Given the description of an element on the screen output the (x, y) to click on. 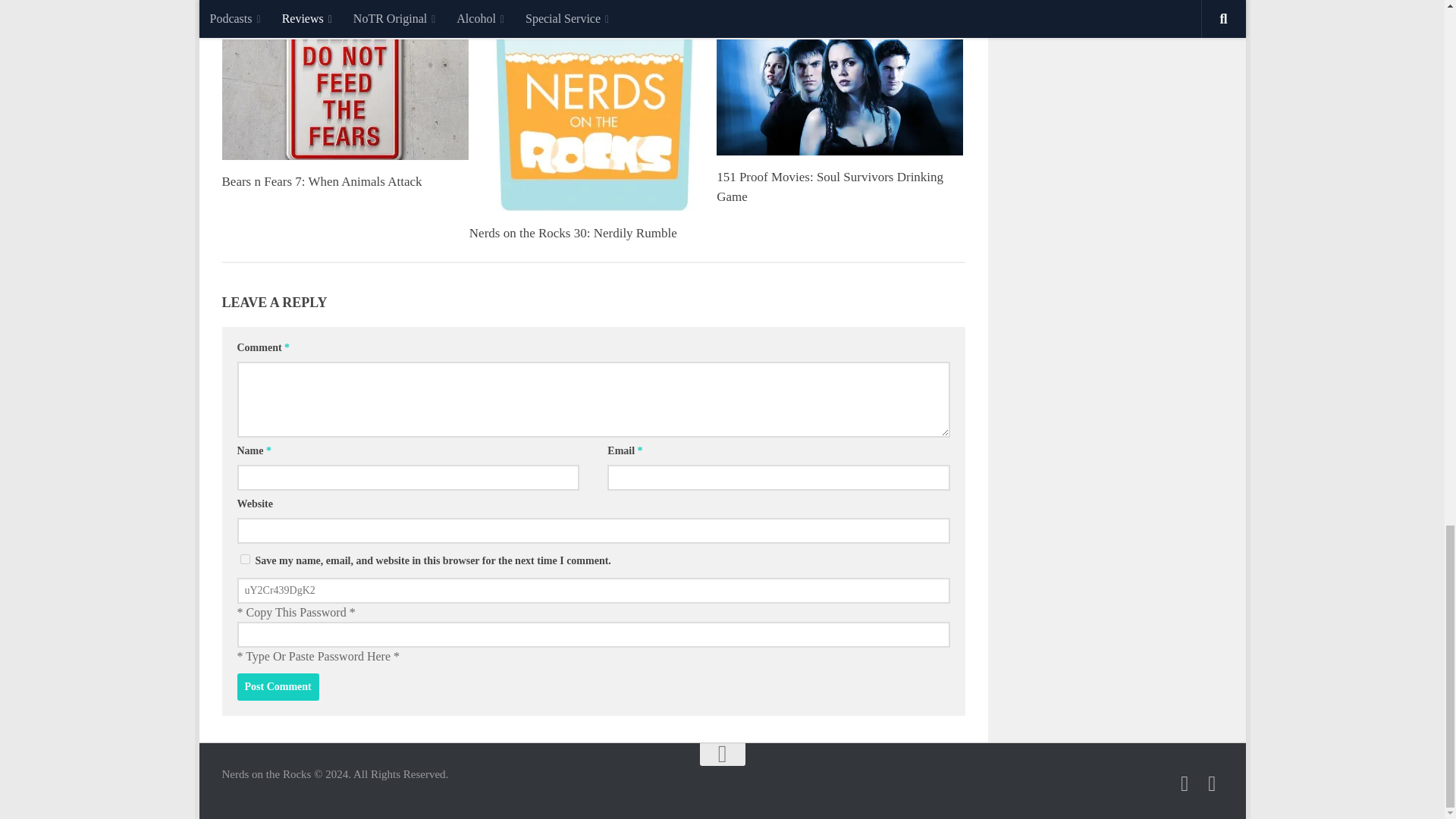
uY2Cr439DgK2 (592, 590)
Follow us on Facebook-square (1212, 783)
Post Comment (276, 687)
Follow us on Twitter-square (1184, 783)
yes (244, 559)
